Given the description of an element on the screen output the (x, y) to click on. 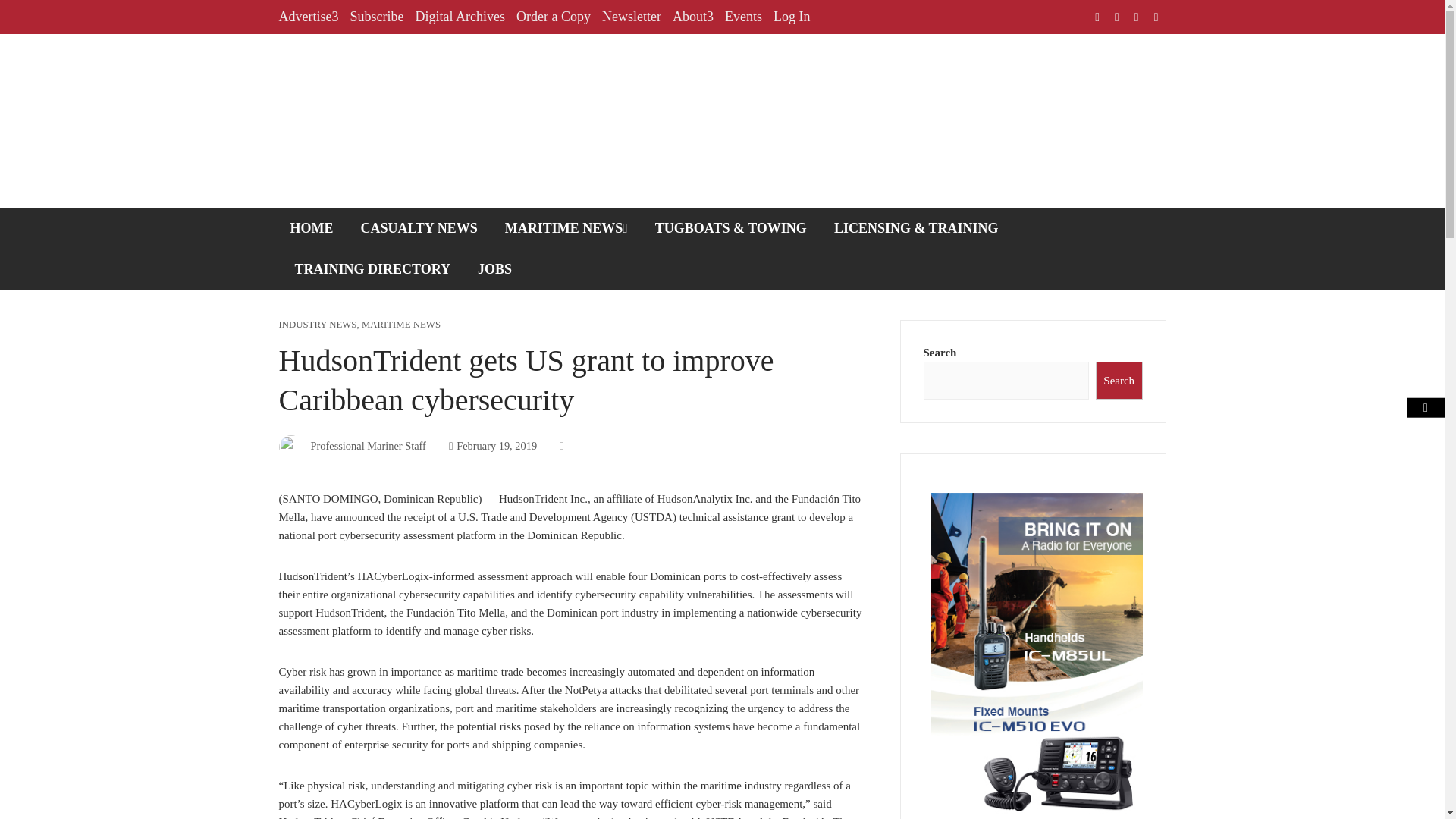
TRAINING DIRECTORY (373, 268)
Advertise (309, 17)
HOME (312, 228)
Log In (791, 17)
About (692, 17)
JOBS (493, 268)
CASUALTY NEWS (418, 228)
Order a Copy (553, 17)
MARITIME NEWS (566, 228)
Subscribe (376, 17)
MARITIME NEWS (401, 325)
Digital Archives (458, 17)
Newsletter (631, 17)
INDUSTRY NEWS (317, 325)
Events (743, 17)
